Given the description of an element on the screen output the (x, y) to click on. 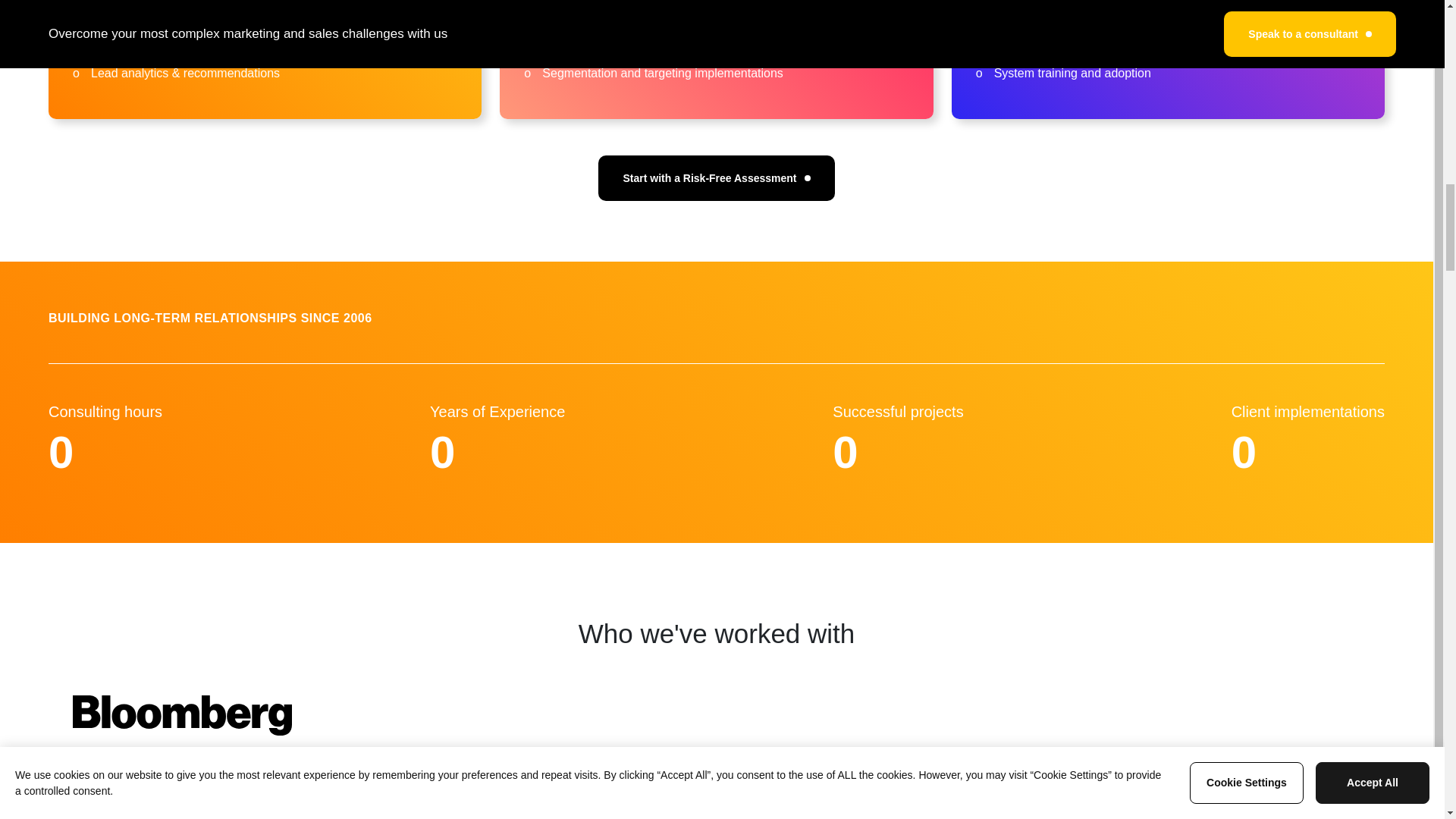
Start with a Risk-Free Assessment (716, 177)
